Given the description of an element on the screen output the (x, y) to click on. 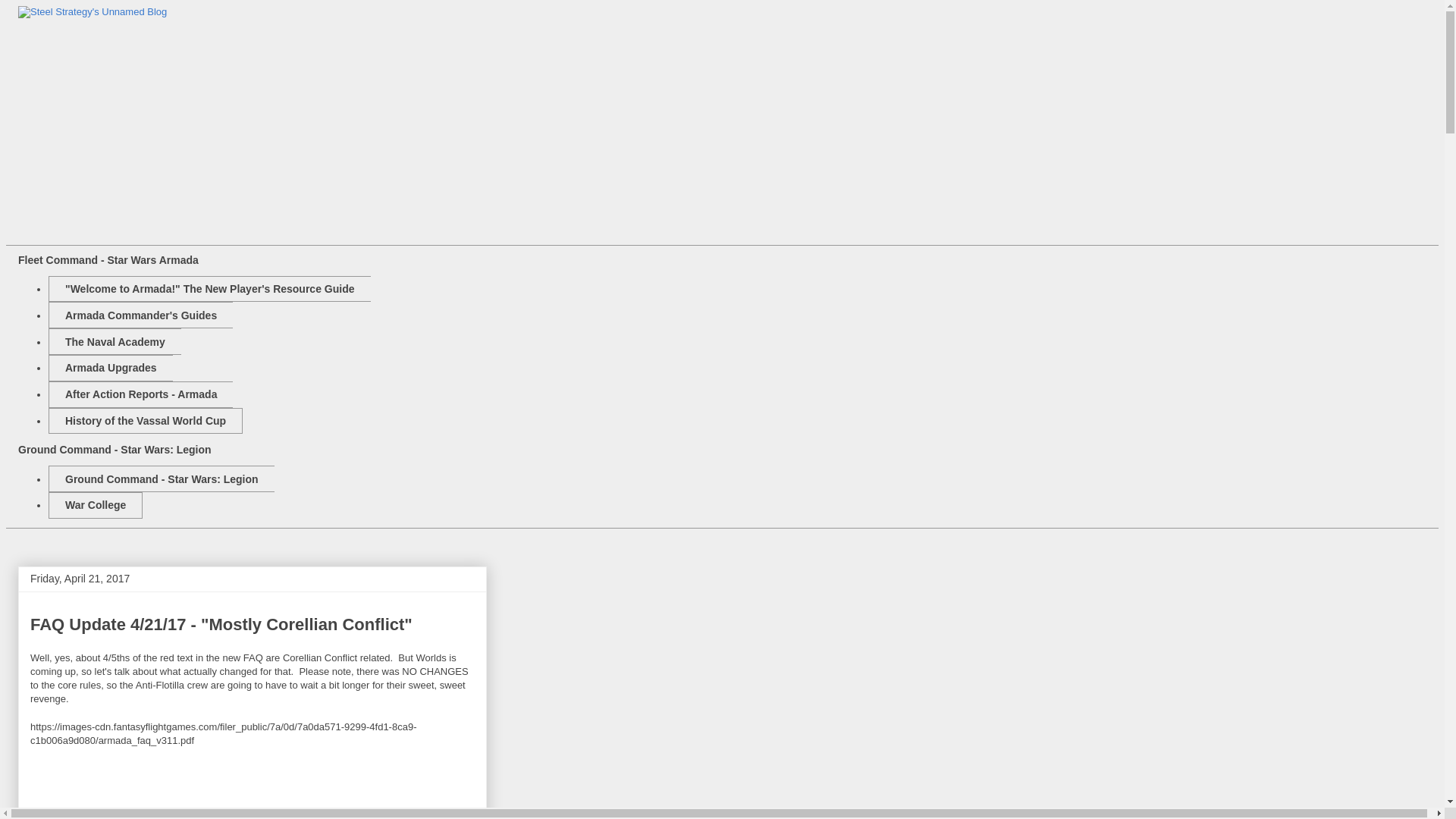
War College (95, 505)
Armada Upgrades (110, 367)
Armada Commander's Guides (140, 315)
After Action Reports - Armada (140, 394)
Ground Command - Star Wars: Legion (161, 479)
"Welcome to Armada!" The New Player's Resource Guide (209, 289)
History of the Vassal World Cup (145, 420)
The Naval Academy (114, 341)
